Given the description of an element on the screen output the (x, y) to click on. 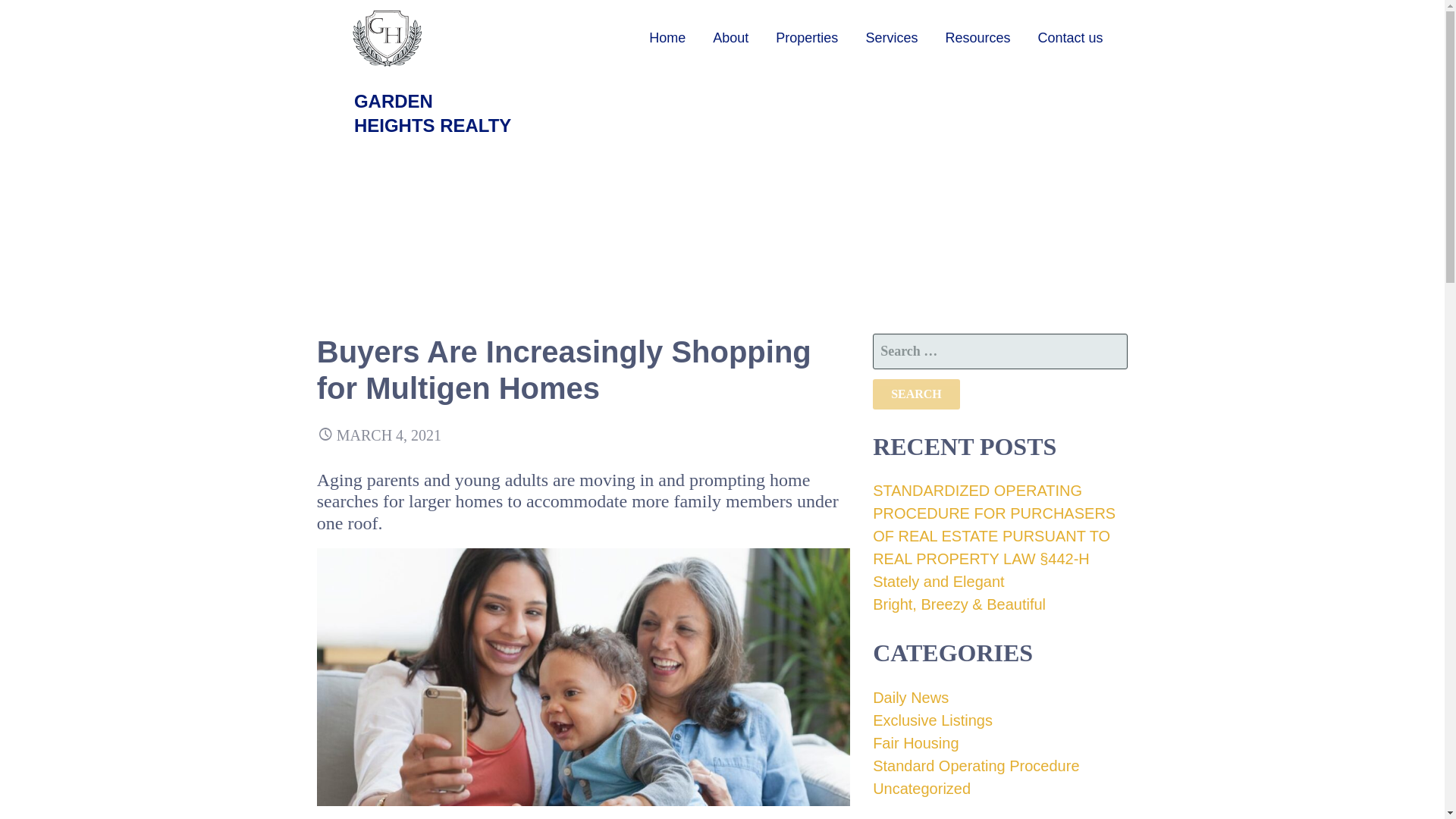
Search (915, 394)
Contact us (1069, 38)
Resources (977, 38)
Home (666, 38)
Daily News (910, 697)
About (729, 38)
Properties (806, 38)
GARDEN HEIGHTS REALTY (432, 112)
Exclusive Listings (932, 719)
Stately and Elegant (938, 581)
Fair Housing (915, 742)
Services (891, 38)
Search (915, 394)
Search (915, 394)
